Given the description of an element on the screen output the (x, y) to click on. 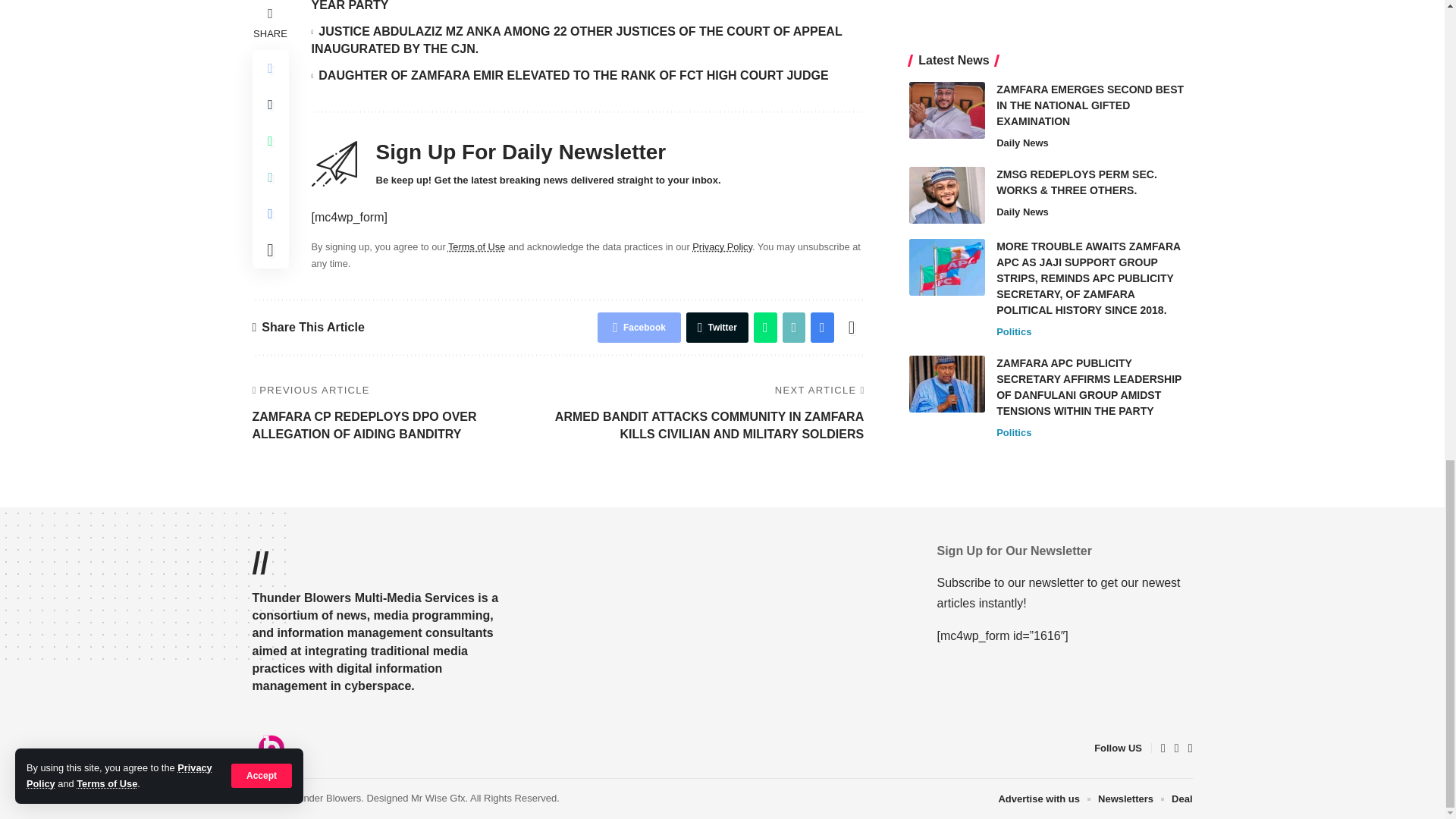
Thunder Blowers (270, 747)
